Given the description of an element on the screen output the (x, y) to click on. 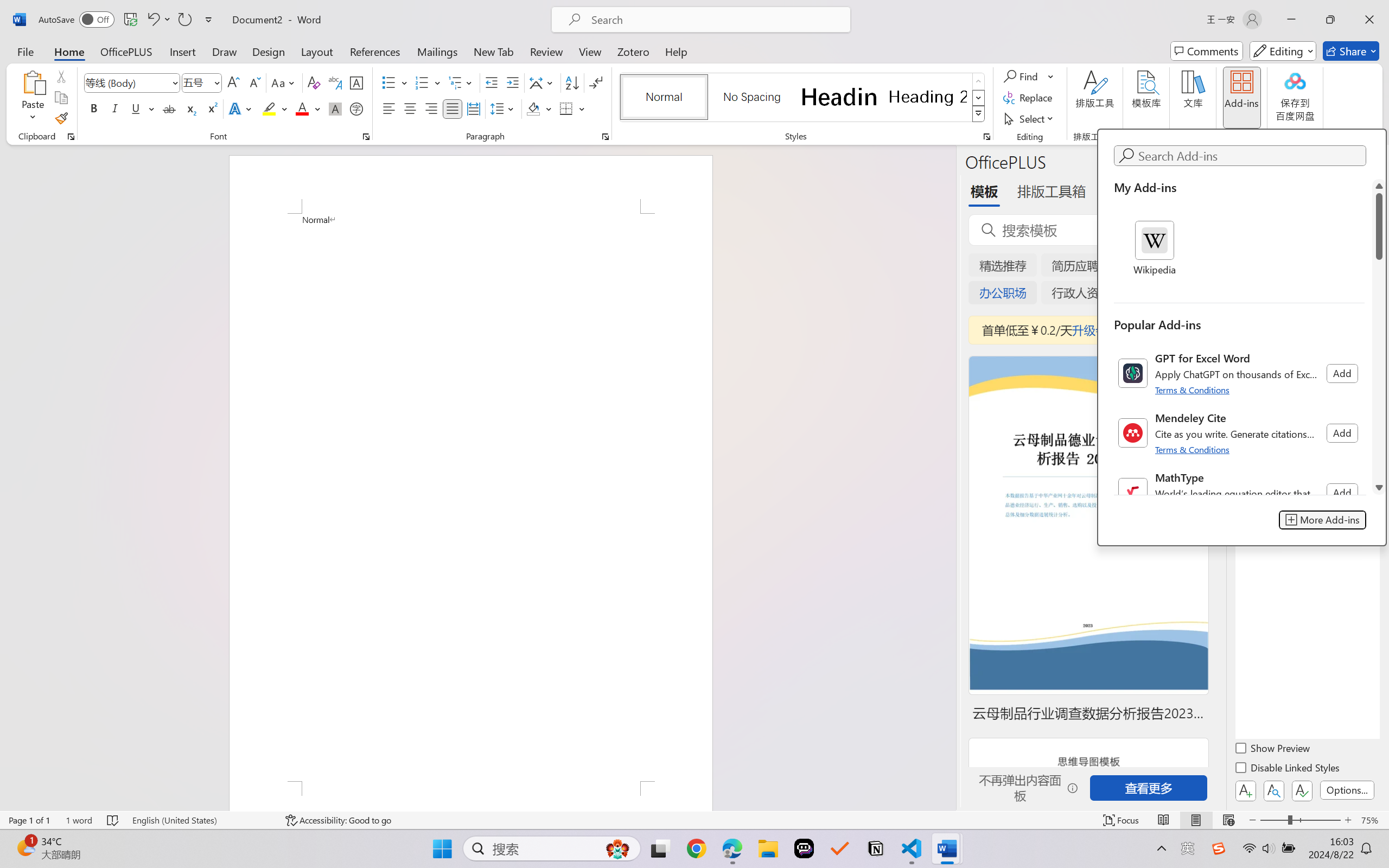
Font... (365, 136)
Increase Indent (512, 82)
Save (130, 19)
Styles... (986, 136)
Font (126, 82)
